Given the description of an element on the screen output the (x, y) to click on. 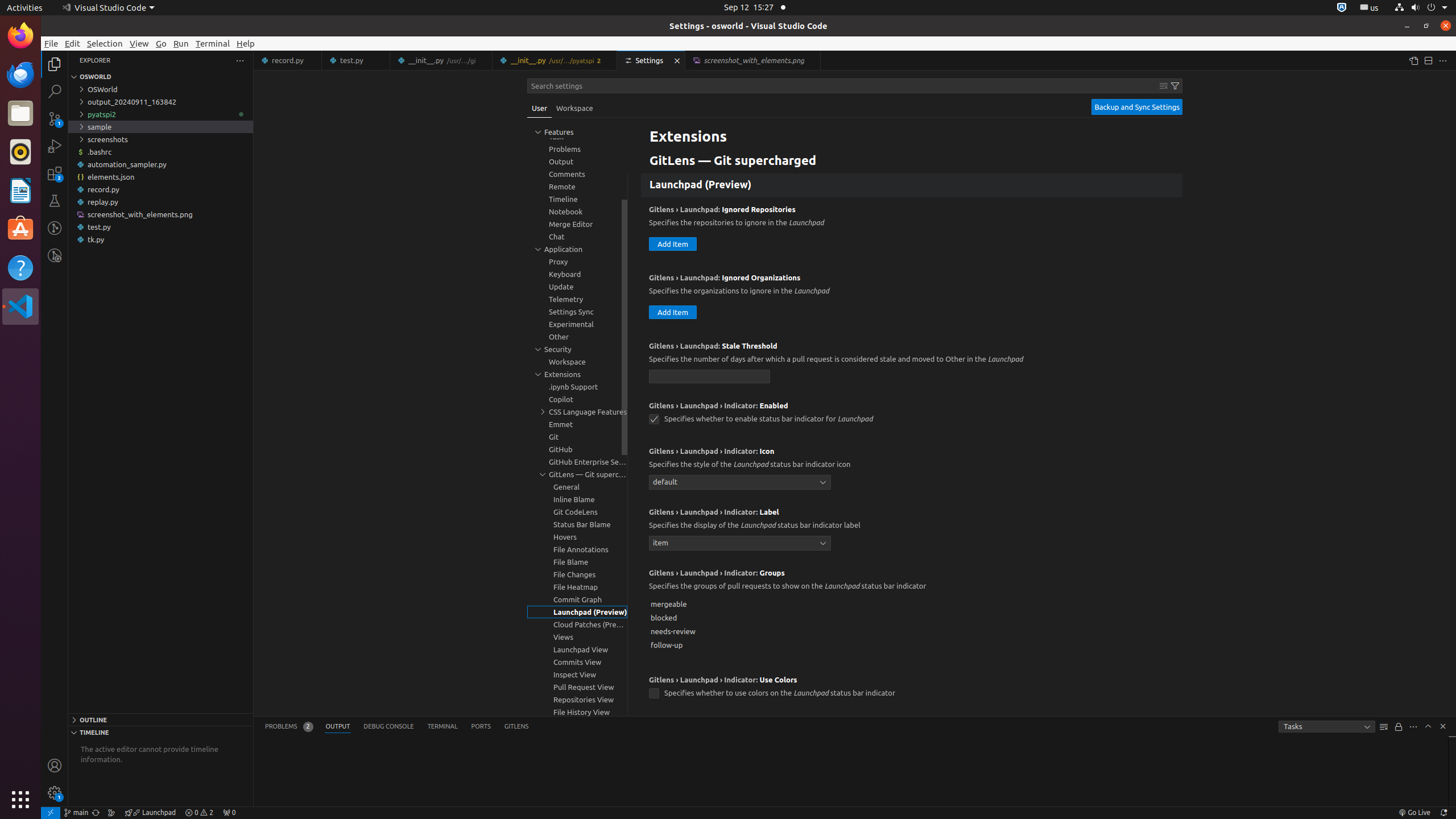
Other, group Element type: tree-item (577, 336)
Search (Ctrl+Shift+F) Element type: page-tab (54, 91)
Views and More Actions... Element type: push-button (1413, 726)
Extensions, group Element type: tree-item (577, 373)
Gitlens › Launchpad › Indicator Enabled. Specifies whether to enable status bar indicator for Launchpad  Element type: tree-item (911, 416)
